Given the description of an element on the screen output the (x, y) to click on. 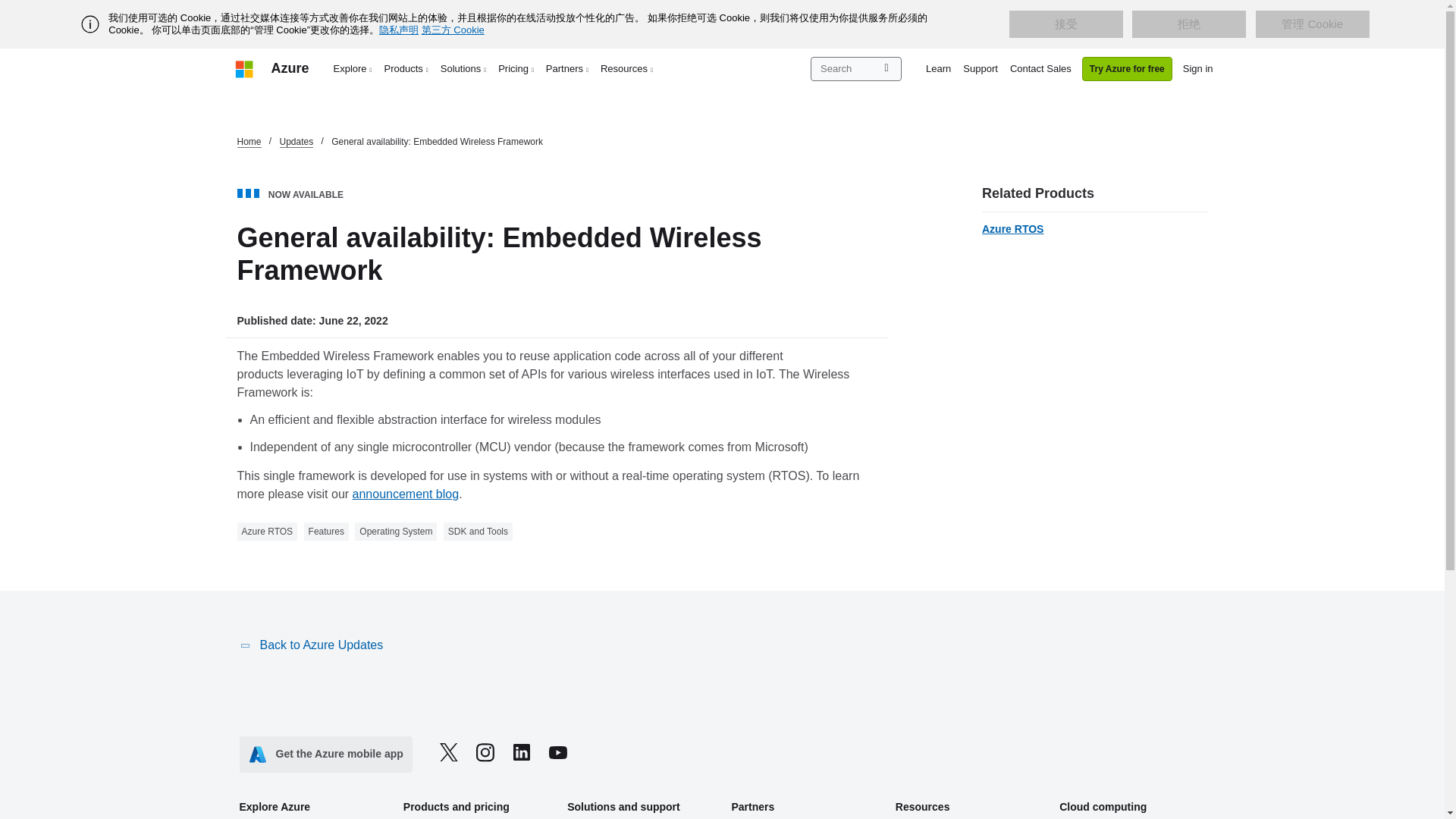
Products (405, 68)
Skip to main content (7, 7)
Azure (289, 68)
Explore (352, 68)
